Given the description of an element on the screen output the (x, y) to click on. 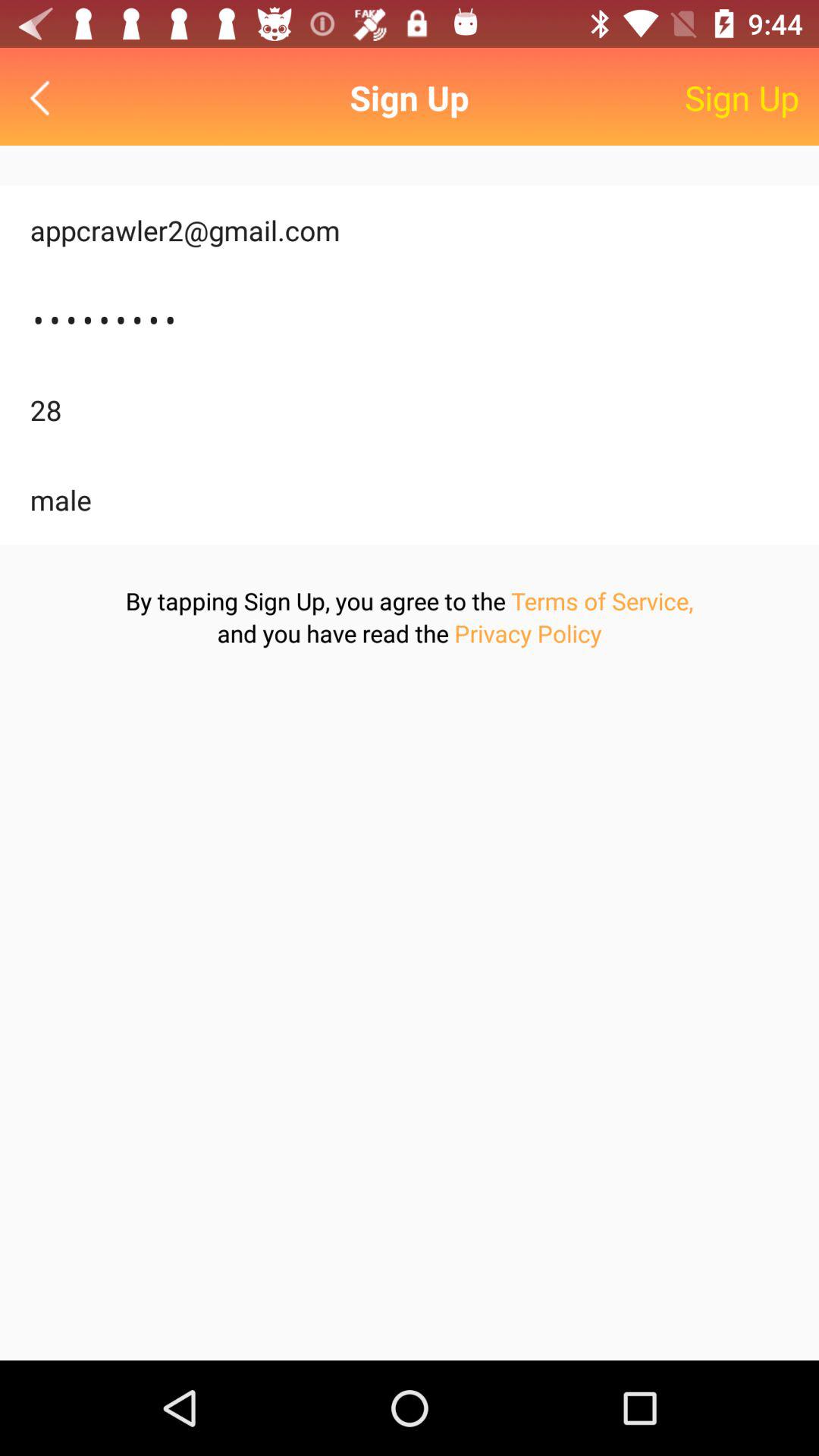
turn off item to the right of the and you have (527, 633)
